Given the description of an element on the screen output the (x, y) to click on. 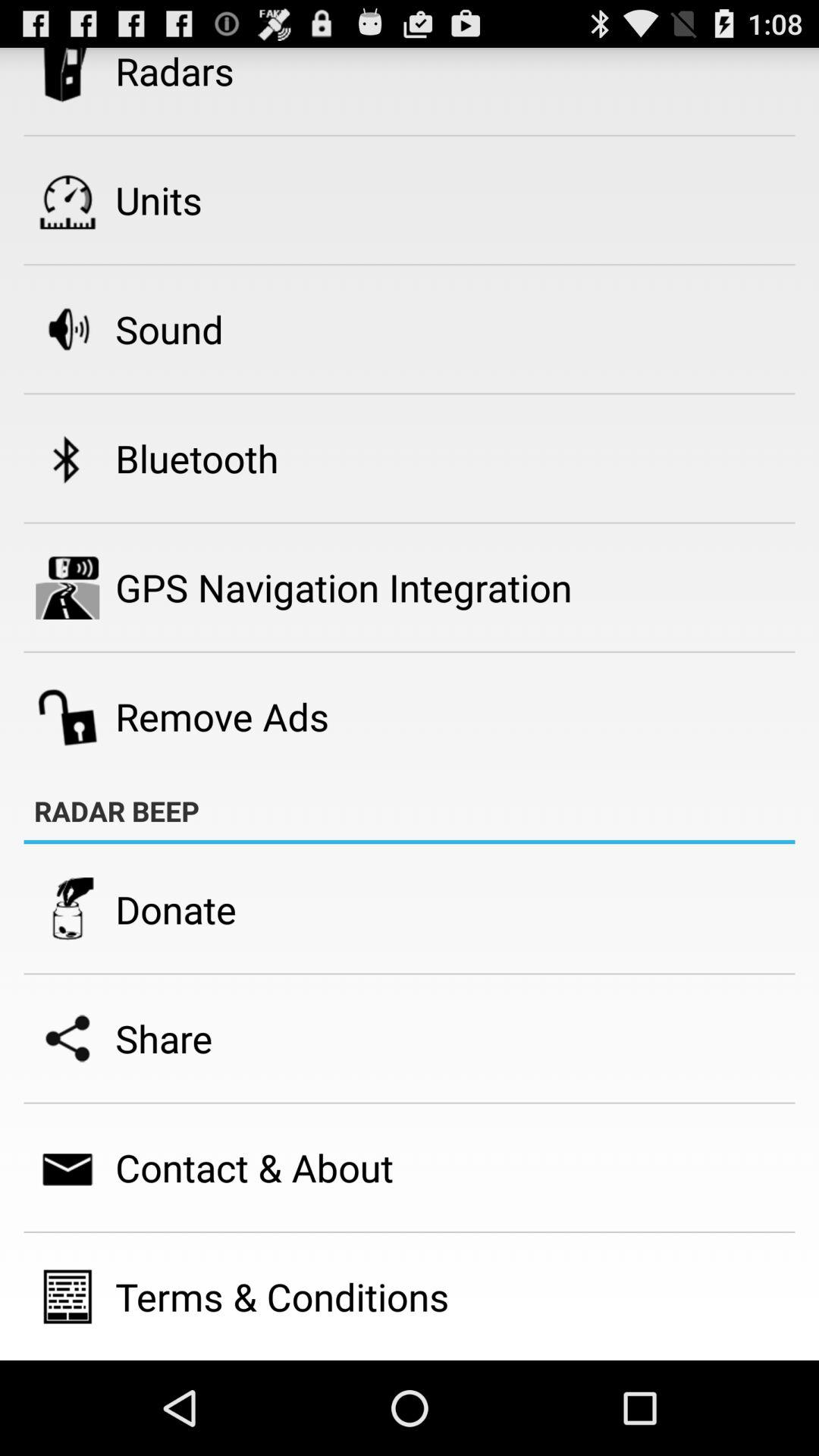
select the icon below donate (163, 1038)
